Given the description of an element on the screen output the (x, y) to click on. 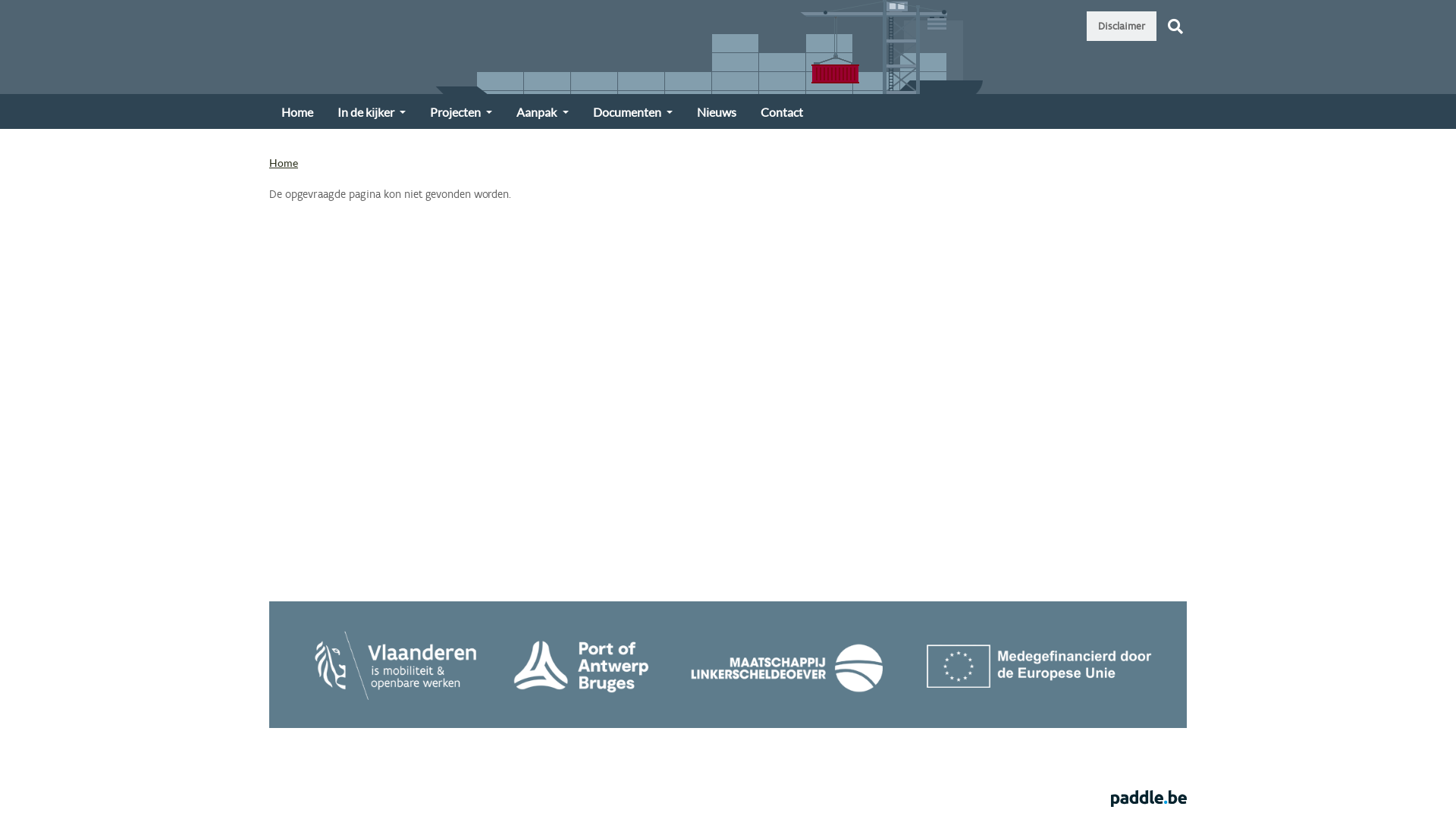
In de kijker Element type: text (371, 111)
Home Element type: text (283, 162)
Documenten Element type: text (632, 111)
Projecten Element type: text (460, 111)
Disclaimer Element type: text (1121, 25)
Paddle CMS Platform Element type: hover (1148, 797)
Contact Element type: text (781, 111)
Nieuws Element type: text (716, 111)
Home Element type: text (297, 111)
Naar de inhoud Element type: text (0, 0)
Aanpak Element type: text (542, 111)
